Given the description of an element on the screen output the (x, y) to click on. 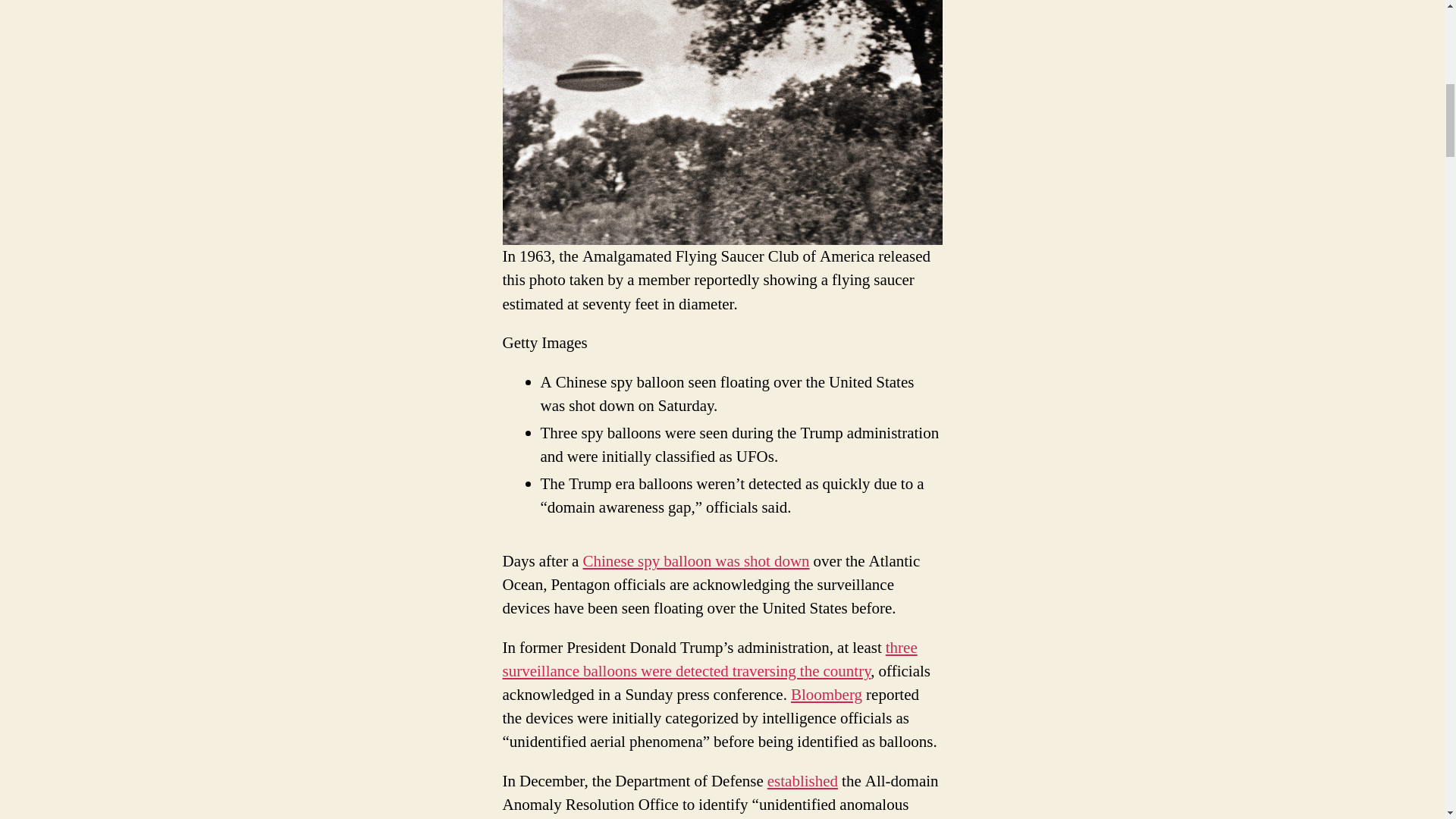
established (802, 781)
Chinese spy balloon was shot down (695, 561)
Bloomberg (825, 694)
